Given the description of an element on the screen output the (x, y) to click on. 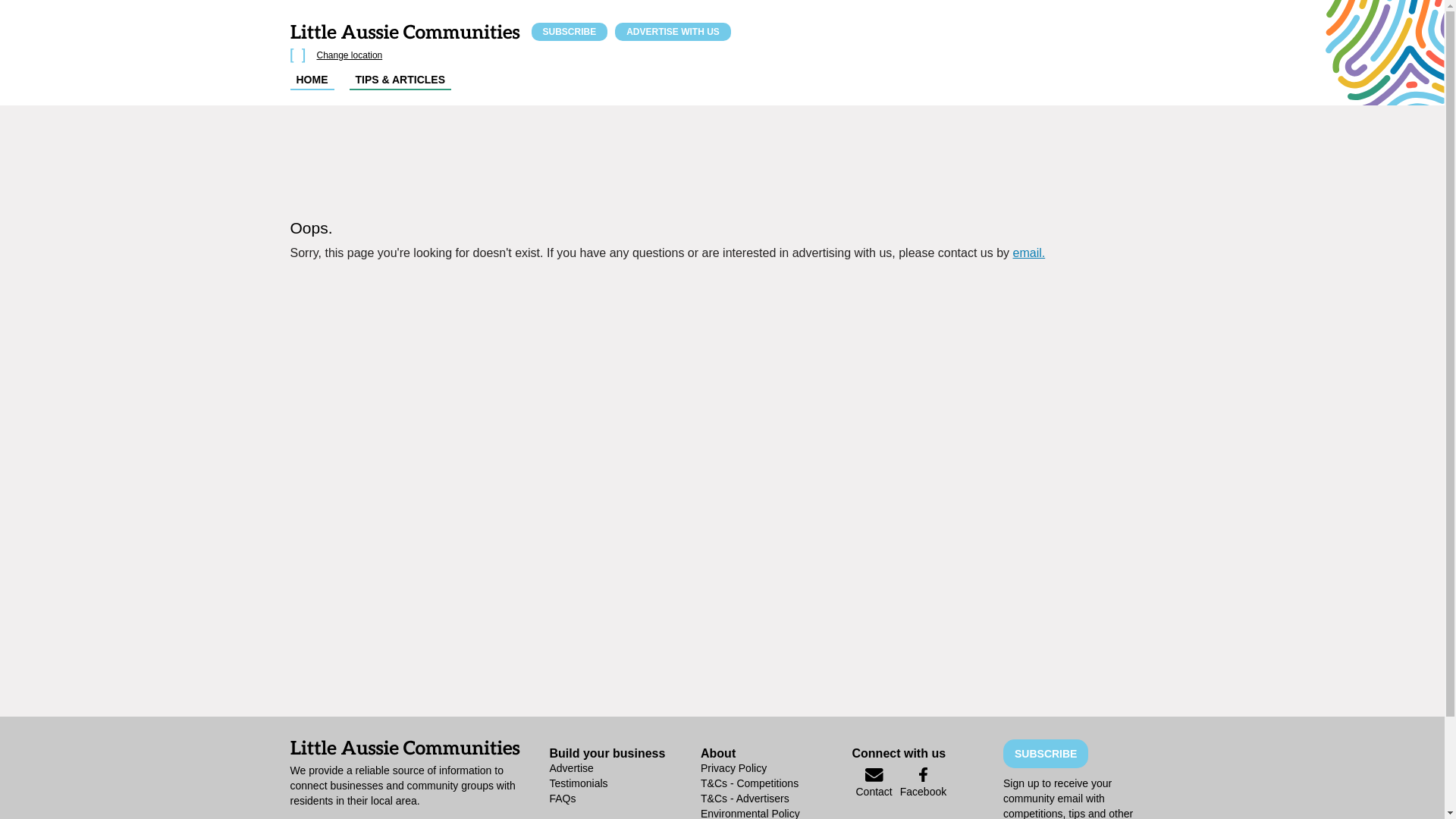
ADVERTISE WITH US Element type: text (673, 31)
email. Element type: text (1029, 252)
SUBSCRIBE Element type: text (1045, 753)
Testimonials Element type: text (624, 782)
T&Cs - Competitions Element type: text (776, 782)
HOME Element type: text (311, 80)
Change location Element type: text (349, 55)
T&Cs - Advertisers Element type: text (776, 798)
TIPS & ARTICLES Element type: text (399, 80)
Contact Element type: text (874, 786)
Advertise Element type: text (624, 767)
Privacy Policy Element type: text (776, 767)
Facebook Element type: text (923, 785)
FAQs Element type: text (624, 798)
SUBSCRIBE Element type: text (568, 31)
